Given the description of an element on the screen output the (x, y) to click on. 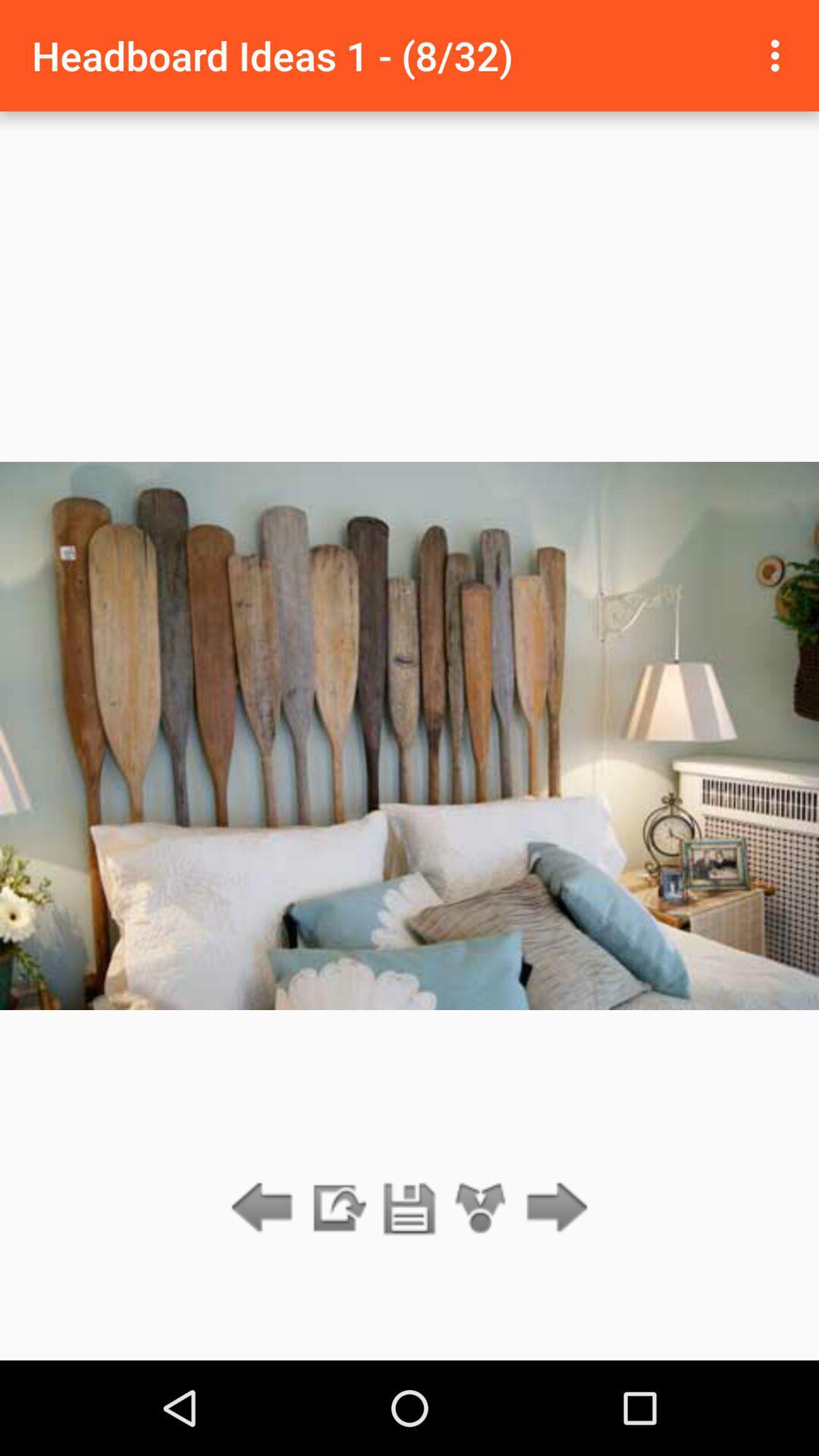
press the item below the headboard ideas 1 icon (409, 1208)
